Given the description of an element on the screen output the (x, y) to click on. 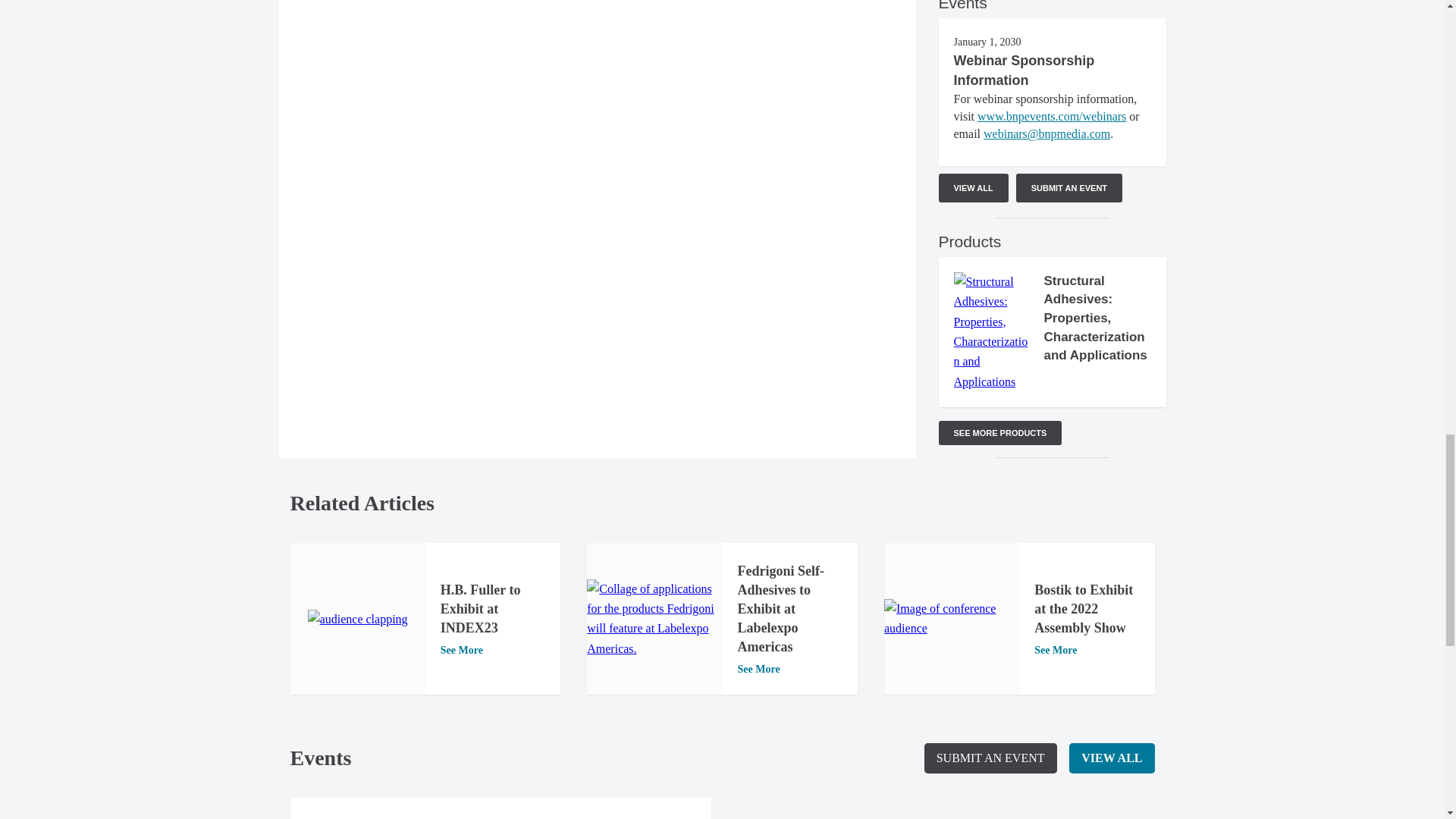
Webinar Sponsorship Information (1023, 70)
fedrigoni-FSA-Image-Collage-900x550.jpg (654, 619)
Speaker---Audience-GettyImages-1178718154.jpg (951, 618)
